Given the description of an element on the screen output the (x, y) to click on. 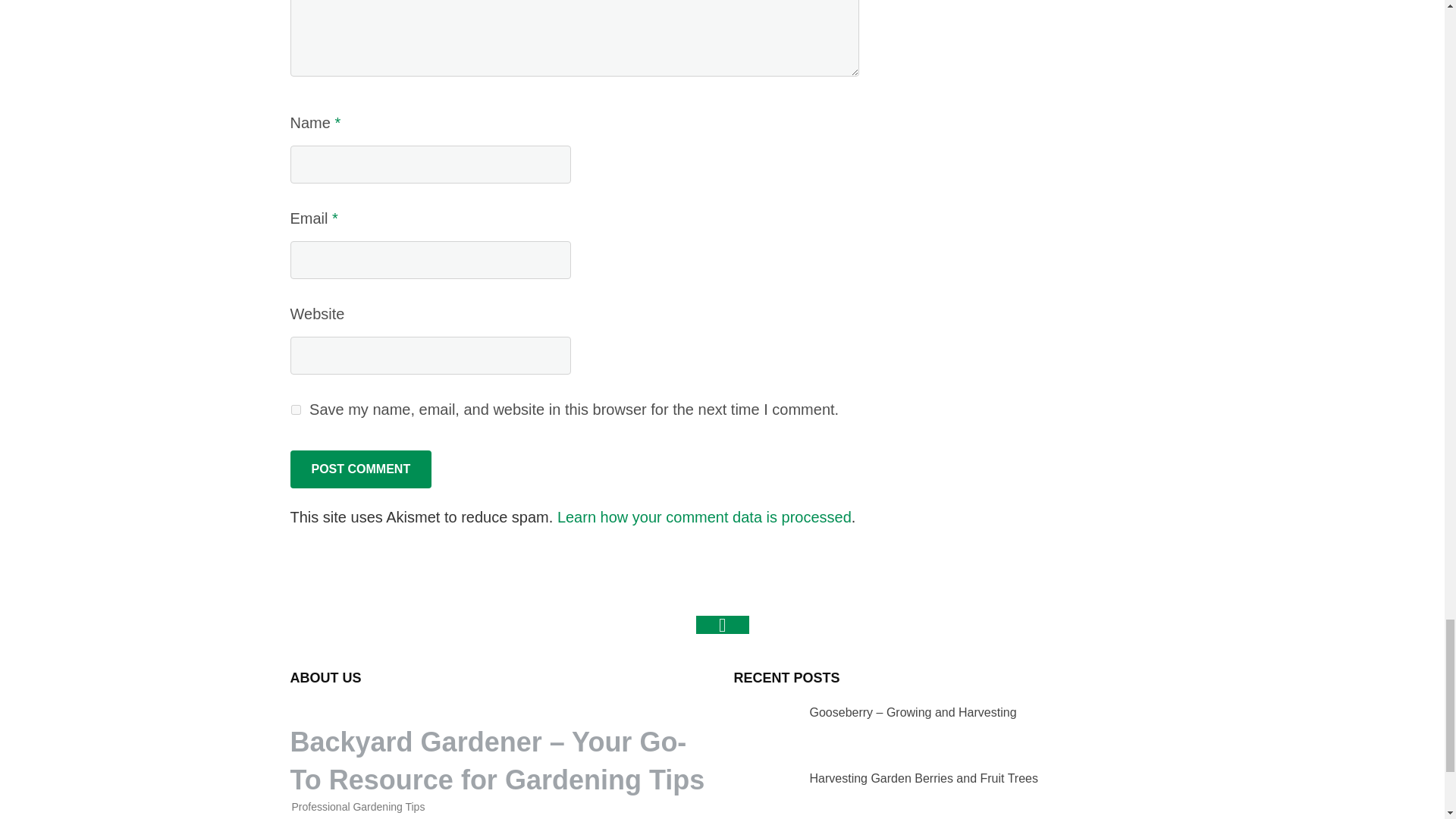
Post Comment (359, 469)
Harvesting Garden Berries and Fruit Trees (761, 792)
yes (296, 409)
